Given the description of an element on the screen output the (x, y) to click on. 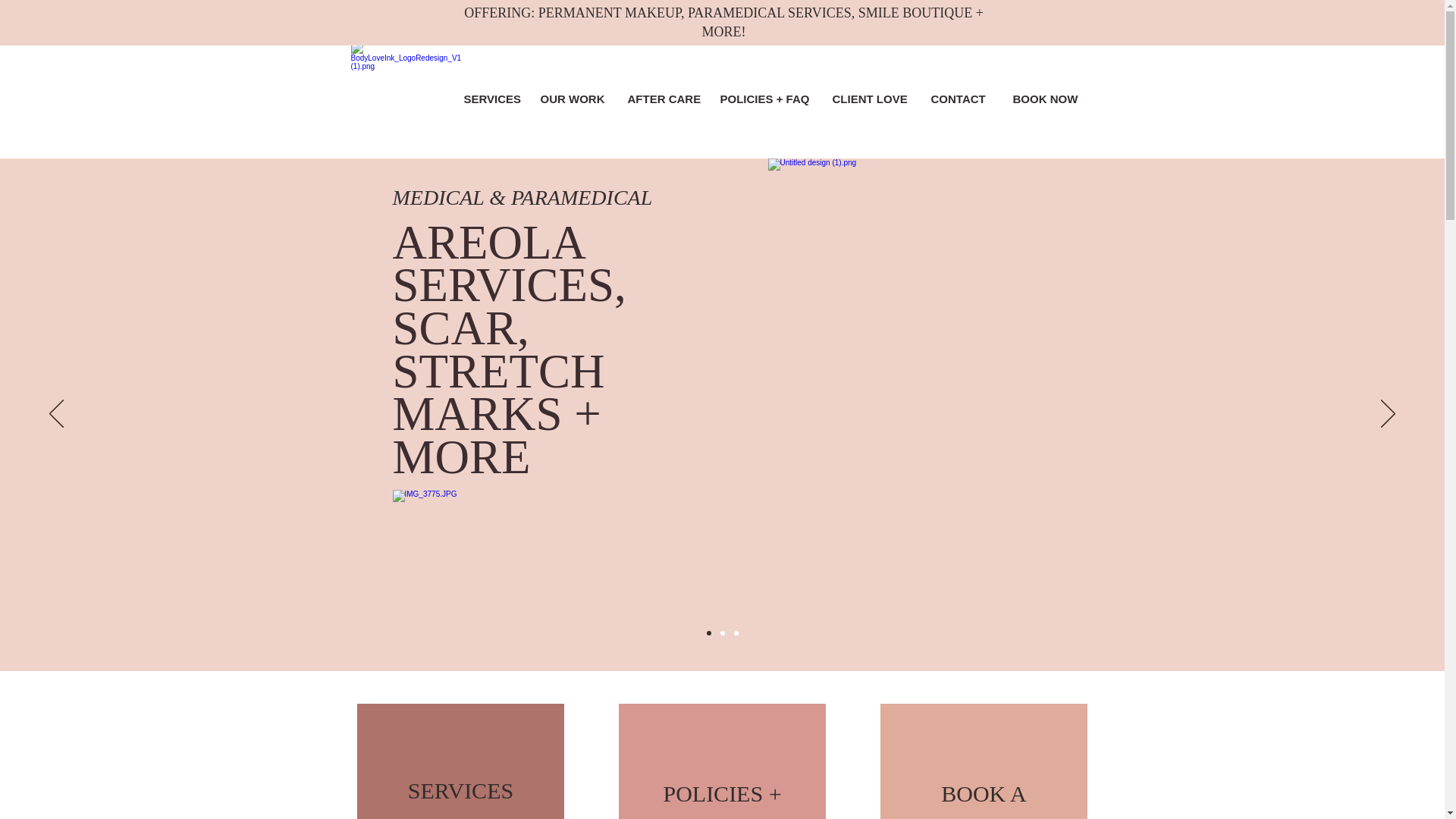
SERVICES (489, 98)
CONTACT (959, 98)
BOOK A CONSULT (984, 800)
OUR WORK (572, 98)
CLIENT LOVE (869, 98)
SERVICES (460, 790)
BOOK NOW (1047, 98)
AFTER CARE (661, 98)
